Given the description of an element on the screen output the (x, y) to click on. 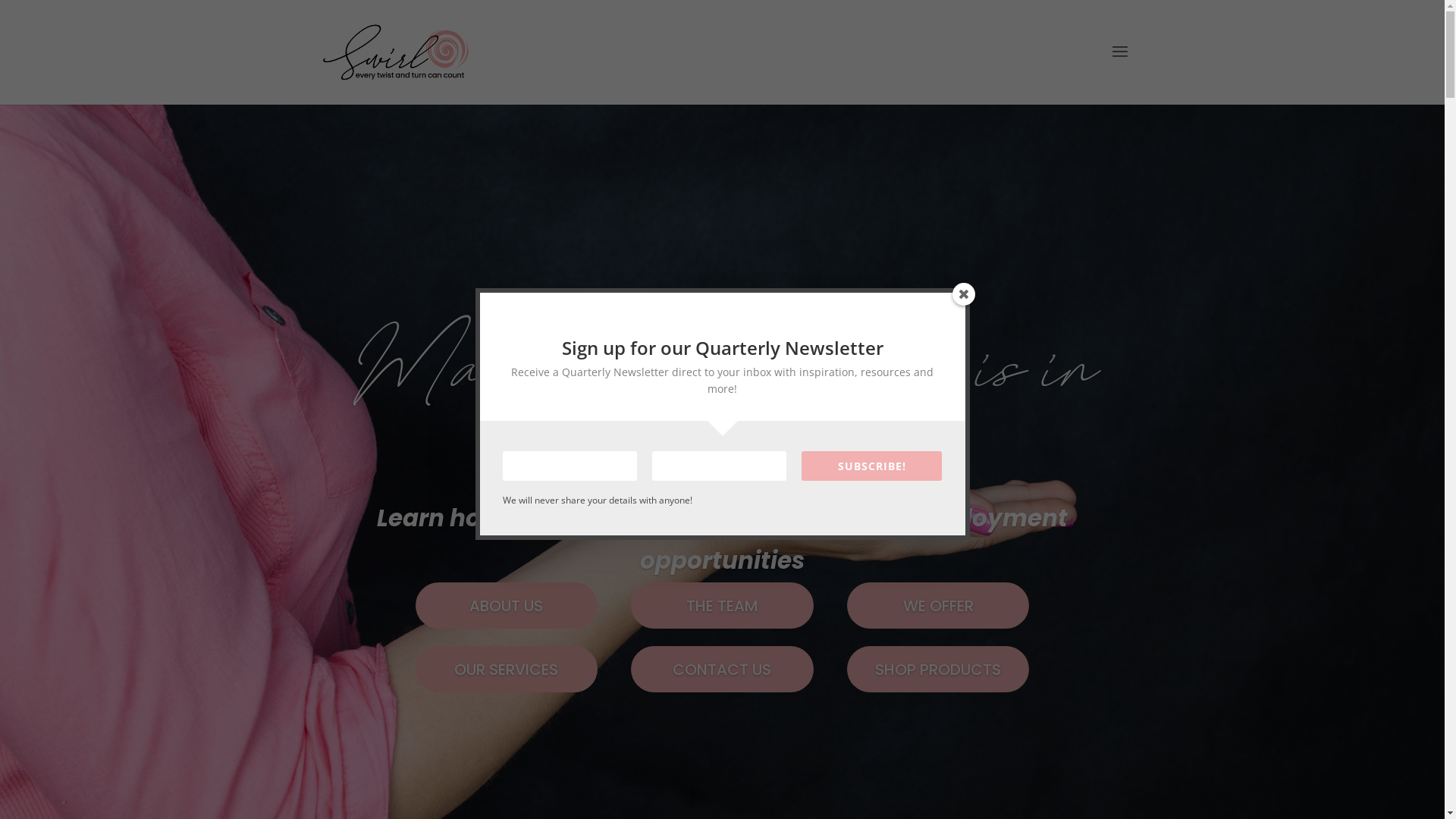
THE TEAM Element type: text (721, 605)
OUR SERVICES Element type: text (506, 669)
SUBSCRIBE! Element type: text (871, 465)
ABOUT US Element type: text (506, 605)
SHOP PRODUCTS Element type: text (938, 669)
WE OFFER Element type: text (938, 605)
CONTACT US Element type: text (721, 669)
